Given the description of an element on the screen output the (x, y) to click on. 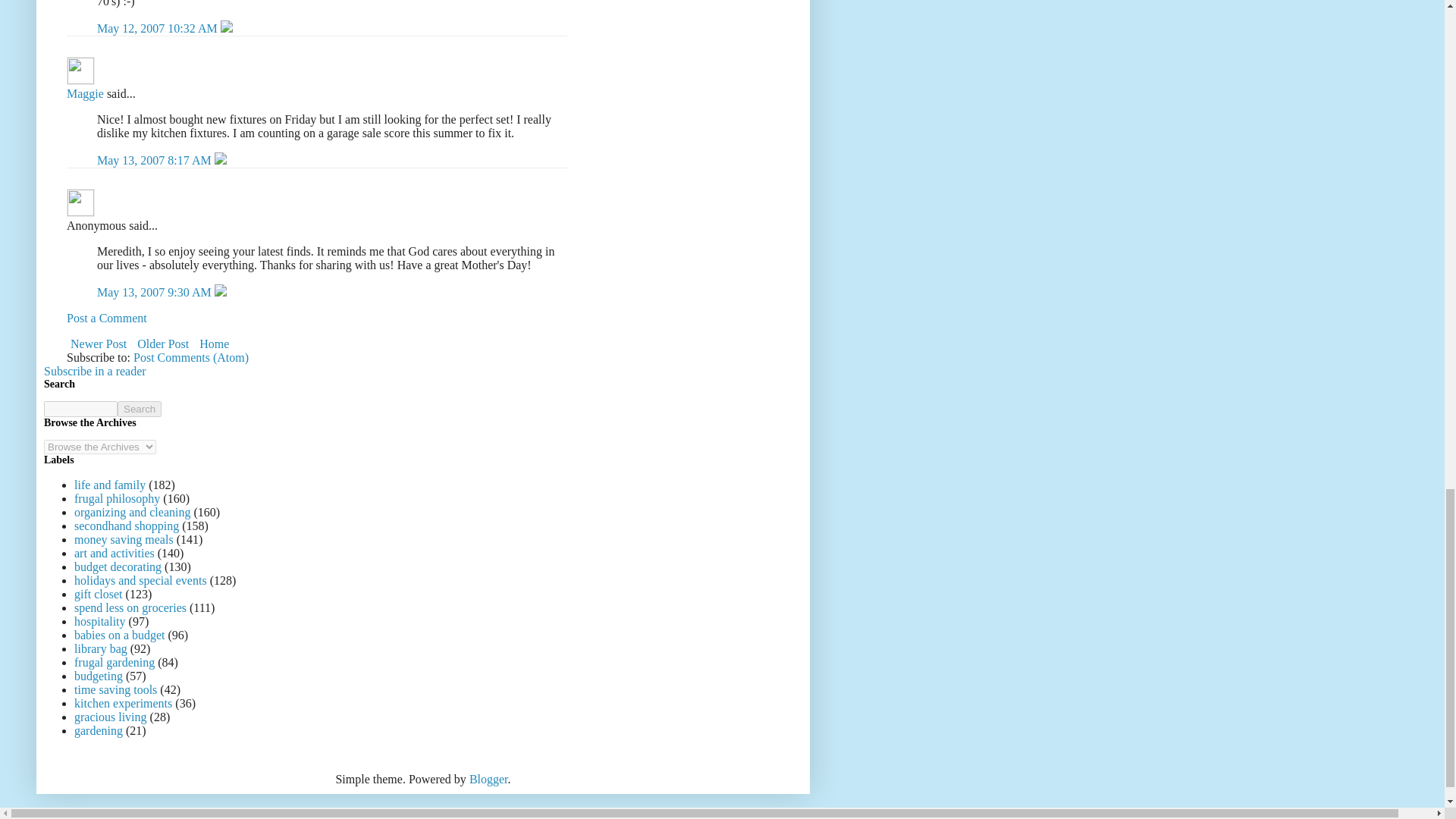
May 12, 2007 10:32 AM (159, 28)
Maggie (84, 92)
Search (139, 408)
Search (139, 408)
